Given the description of an element on the screen output the (x, y) to click on. 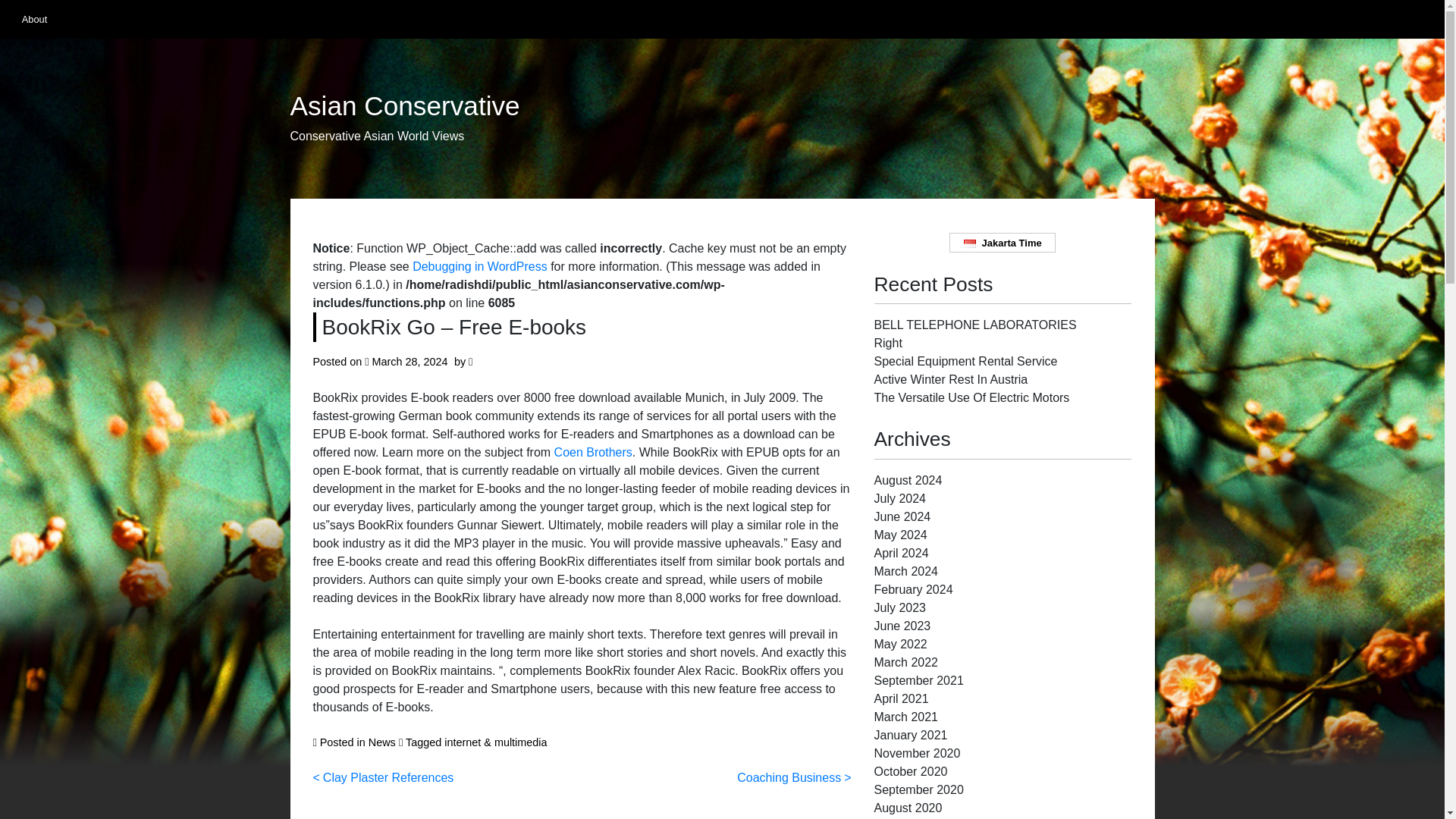
April 2024 (900, 553)
Active Winter Rest In Austria (950, 379)
June 2023 (901, 625)
July 2024 (899, 498)
March 2022 (905, 662)
Coaching Business (793, 777)
February 2024 (912, 589)
March 28, 2024 (410, 361)
March 2024 (905, 571)
Debugging in WordPress (479, 266)
